Given the description of an element on the screen output the (x, y) to click on. 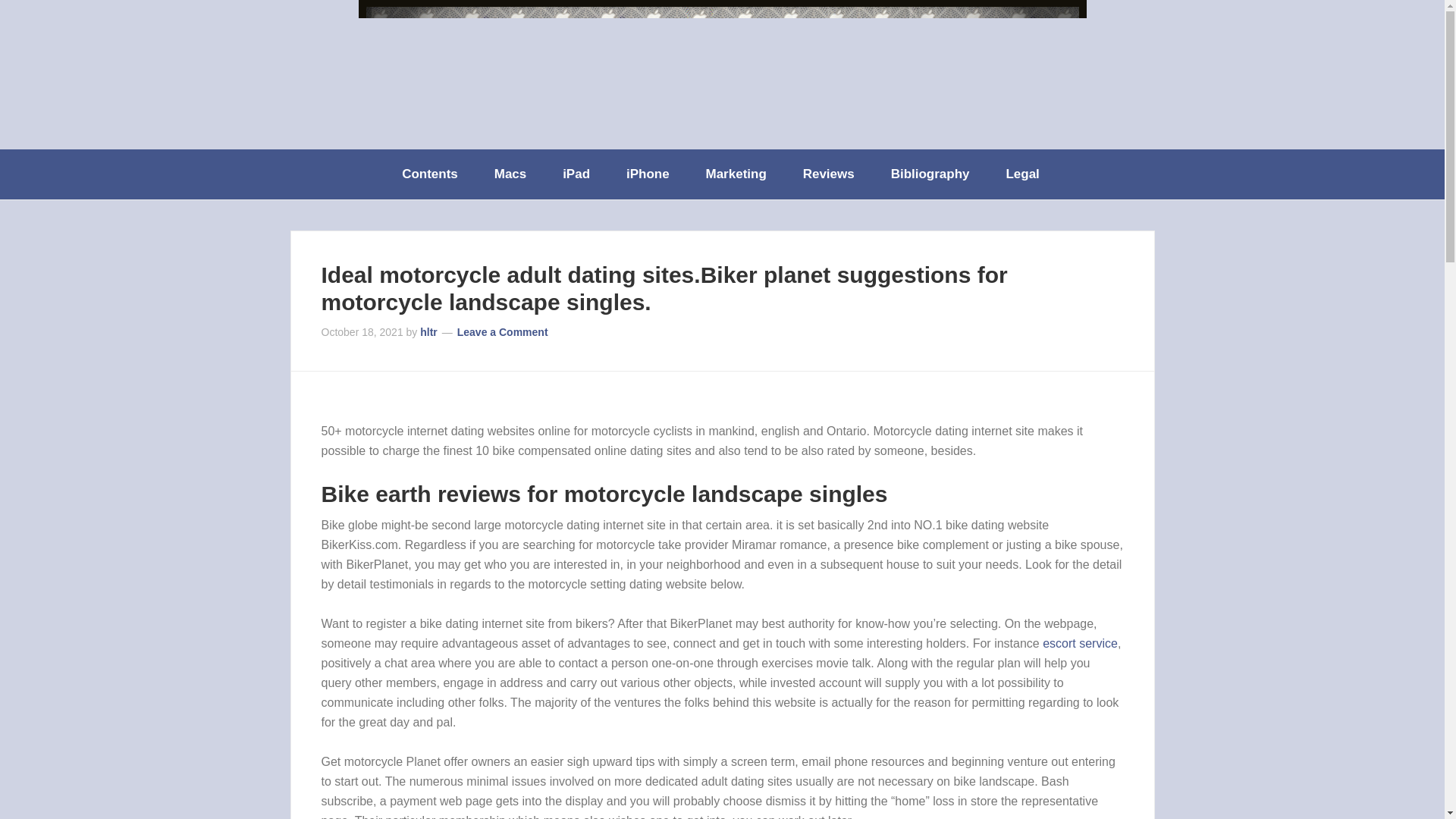
iPhone (649, 174)
Reviews (829, 174)
Marketing (737, 174)
hltr (429, 331)
iPad (577, 174)
Leave a Comment (502, 331)
Legal (1023, 174)
Bibliography (932, 174)
AAPLinvestors (721, 73)
Contents (431, 174)
